Given the description of an element on the screen output the (x, y) to click on. 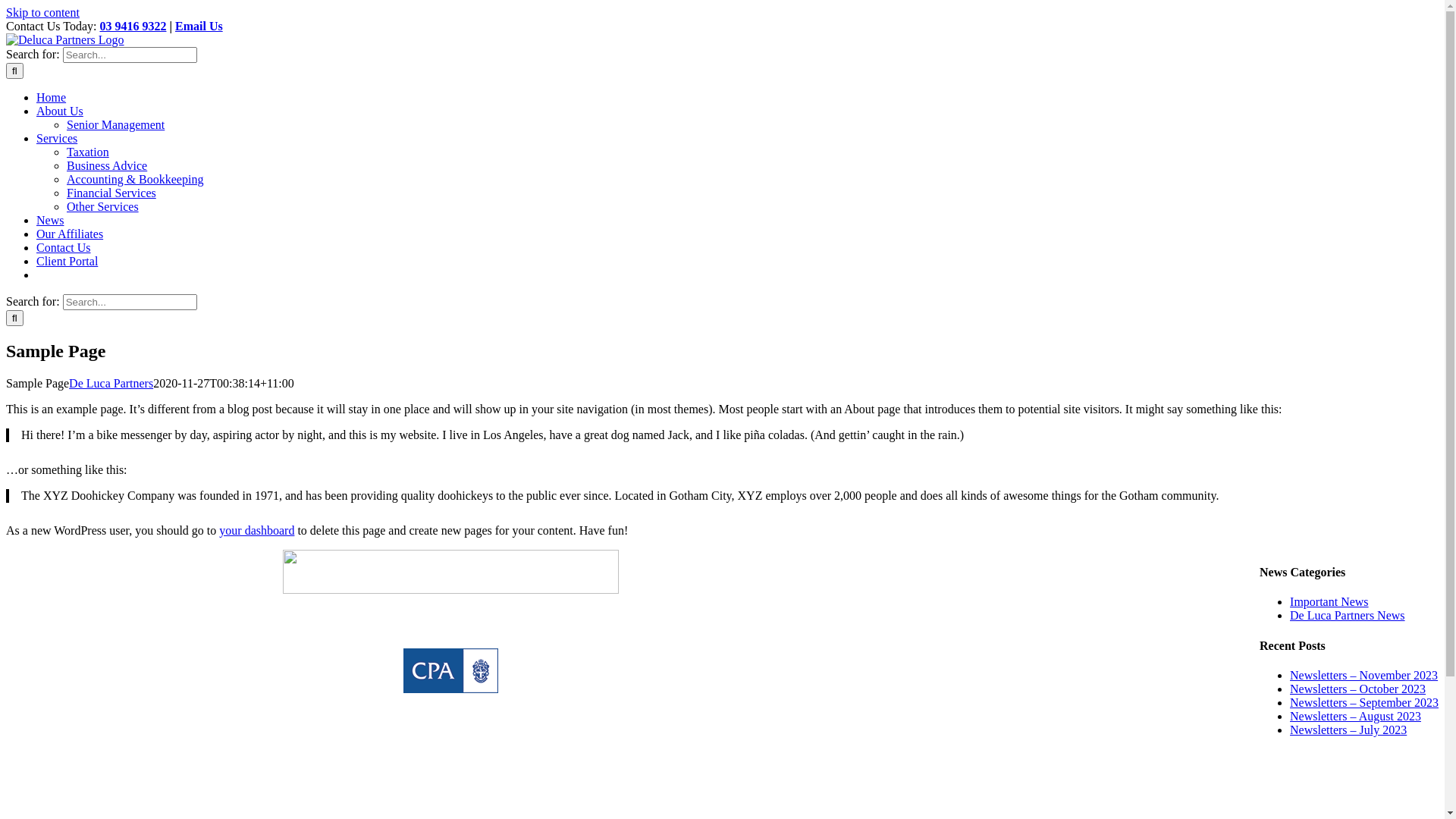
Senior Management Element type: text (115, 124)
info@delucapartners.com.au Element type: text (467, 803)
Accounting & Bookkeeping Element type: text (134, 178)
News Element type: text (49, 219)
Services Element type: text (56, 137)
03 9416 9322 Element type: text (132, 25)
your dashboard Element type: text (256, 530)
De Luca Partners News Element type: text (1347, 614)
Contact Us Element type: text (63, 247)
Email Us Element type: text (198, 25)
Financial Services Element type: text (111, 192)
Other Services Element type: text (102, 206)
About Us Element type: text (59, 110)
Taxation Element type: text (87, 151)
Business Advice Element type: text (106, 165)
Client Portal Element type: text (66, 260)
Important News Element type: text (1328, 601)
De Luca Partners Element type: text (111, 382)
Our Affiliates Element type: text (69, 233)
03 9416 9322 Element type: text (468, 752)
Home Element type: text (50, 97)
Skip to content Element type: text (42, 12)
03 9480 2993 Element type: text (462, 777)
